Given the description of an element on the screen output the (x, y) to click on. 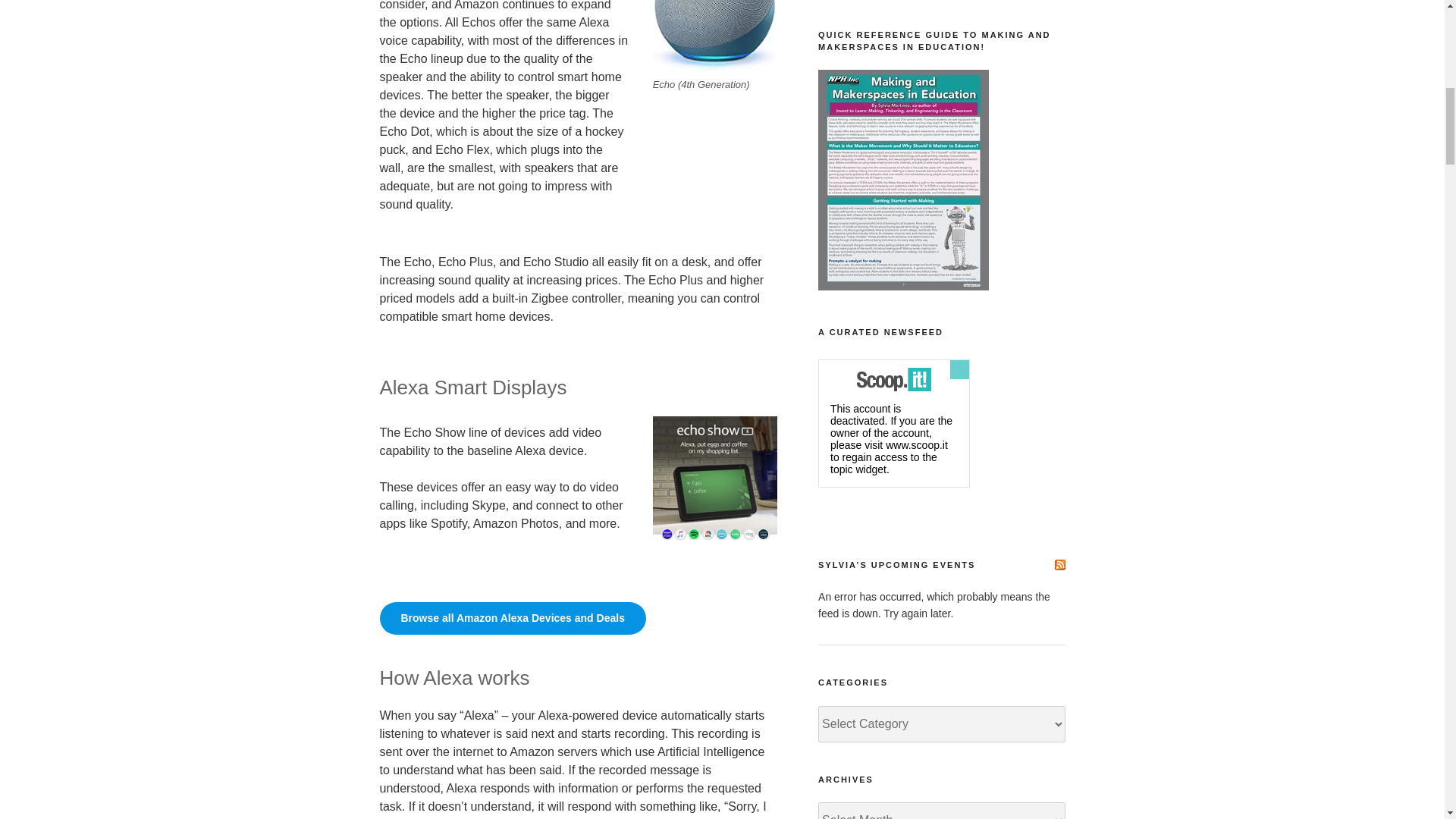
Browse all Amazon Alexa Devices and Deals (511, 617)
